Given the description of an element on the screen output the (x, y) to click on. 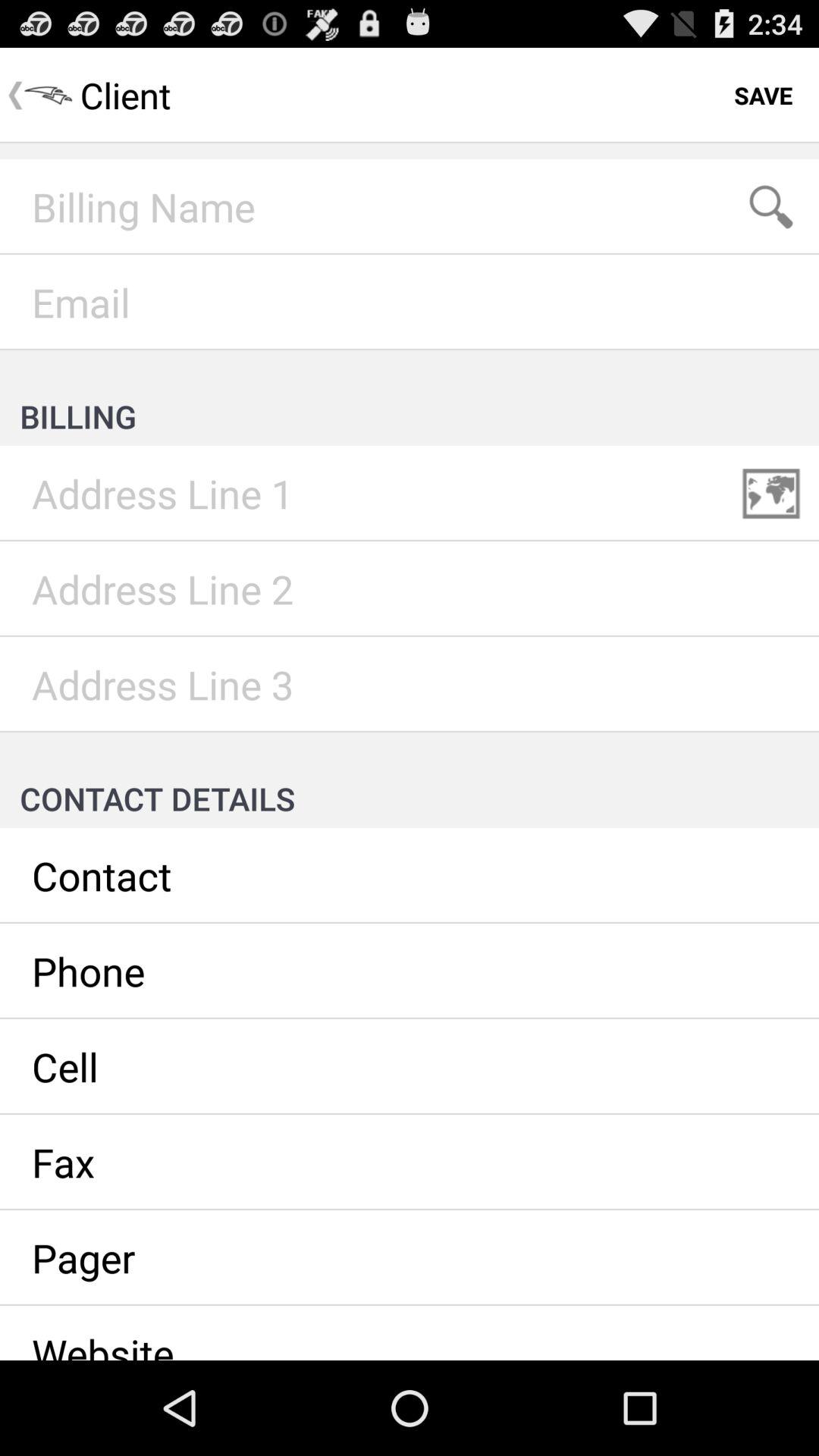
type pager number (409, 1257)
